Given the description of an element on the screen output the (x, y) to click on. 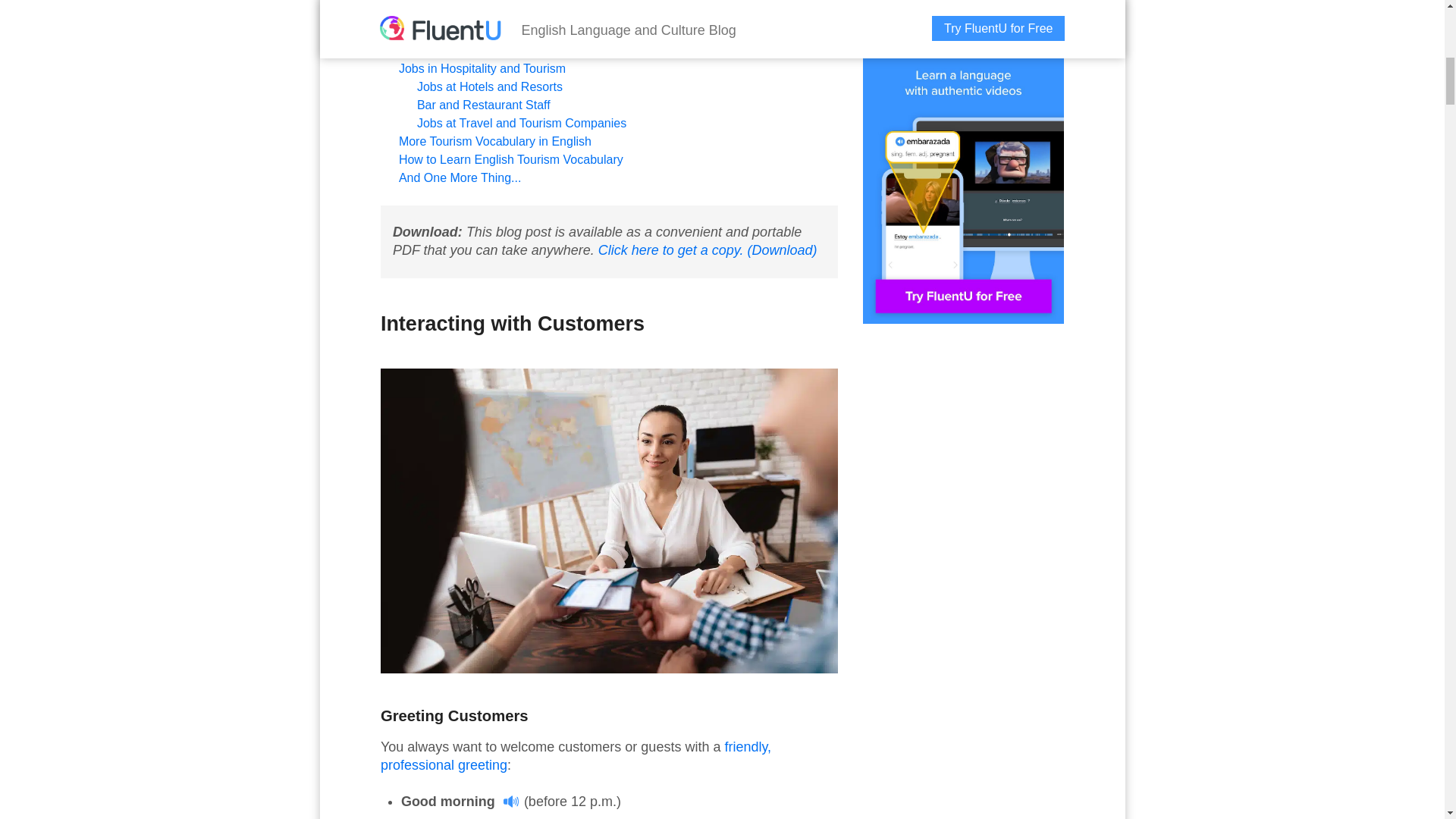
Jobs in Hospitality and Tourism (482, 68)
friendly, professional greeting (575, 756)
How to Learn English Tourism Vocabulary (510, 159)
More Tourism Vocabulary in English (494, 141)
Bar and Restaurant Staff (483, 104)
And One More Thing... (459, 177)
Giving Directions  (464, 31)
Jobs at Hotels and Resorts (489, 86)
Giving Recommendations (486, 13)
Good morning (460, 801)
Jobs at Travel and Tourism Companies (521, 123)
Common Scenarios in Tourism English (502, 1)
Making Friendly Small Talk (488, 50)
